Given the description of an element on the screen output the (x, y) to click on. 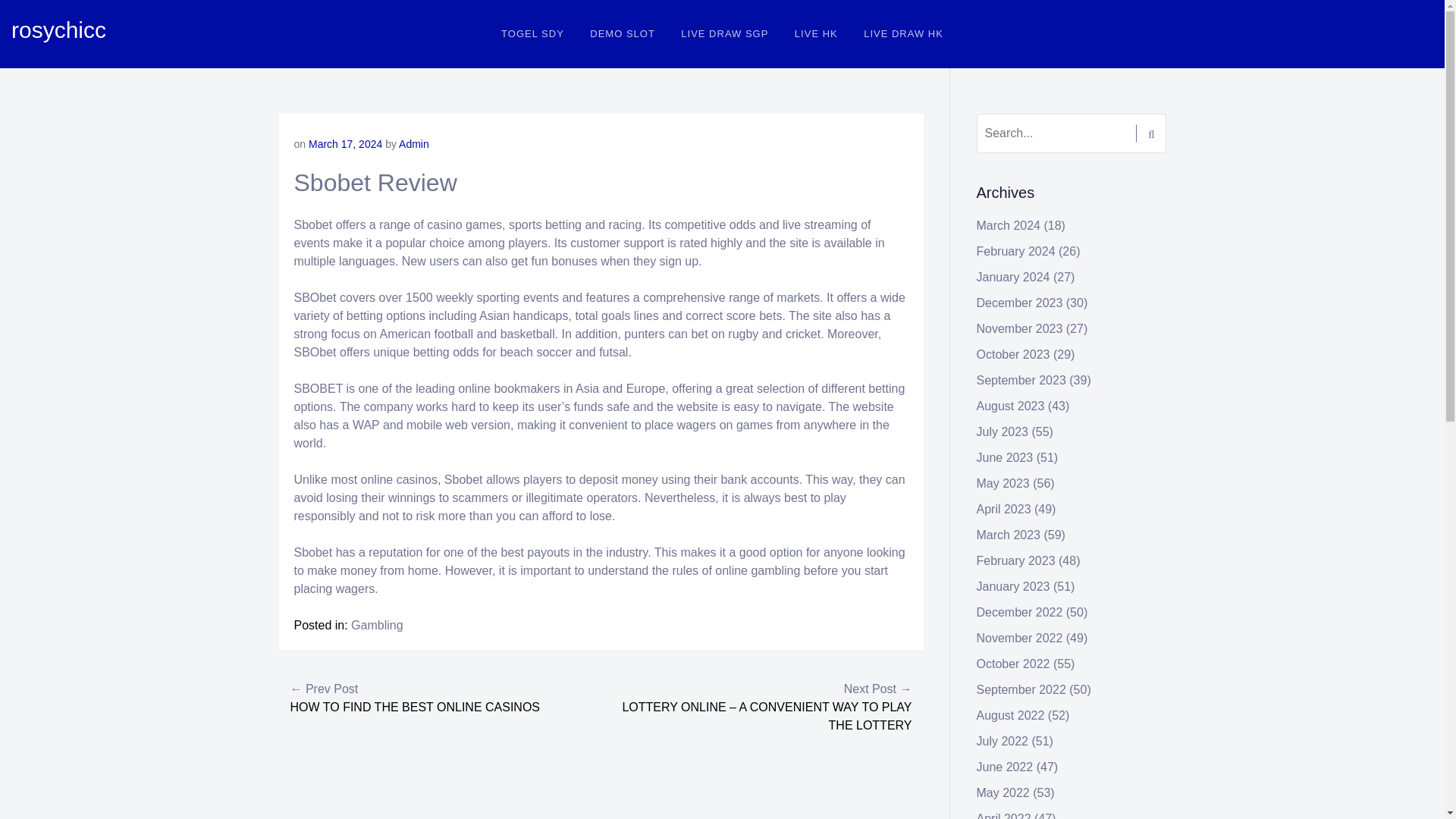
LIVE DRAW HK (903, 33)
September 2022 (1020, 689)
October 2022 (1012, 663)
May 2023 (1002, 482)
February 2023 (1015, 560)
September 2023 (1020, 379)
March 2023 (1008, 534)
October 2023 (1012, 354)
January 2023 (1012, 585)
DEMO SLOT (622, 33)
